Given the description of an element on the screen output the (x, y) to click on. 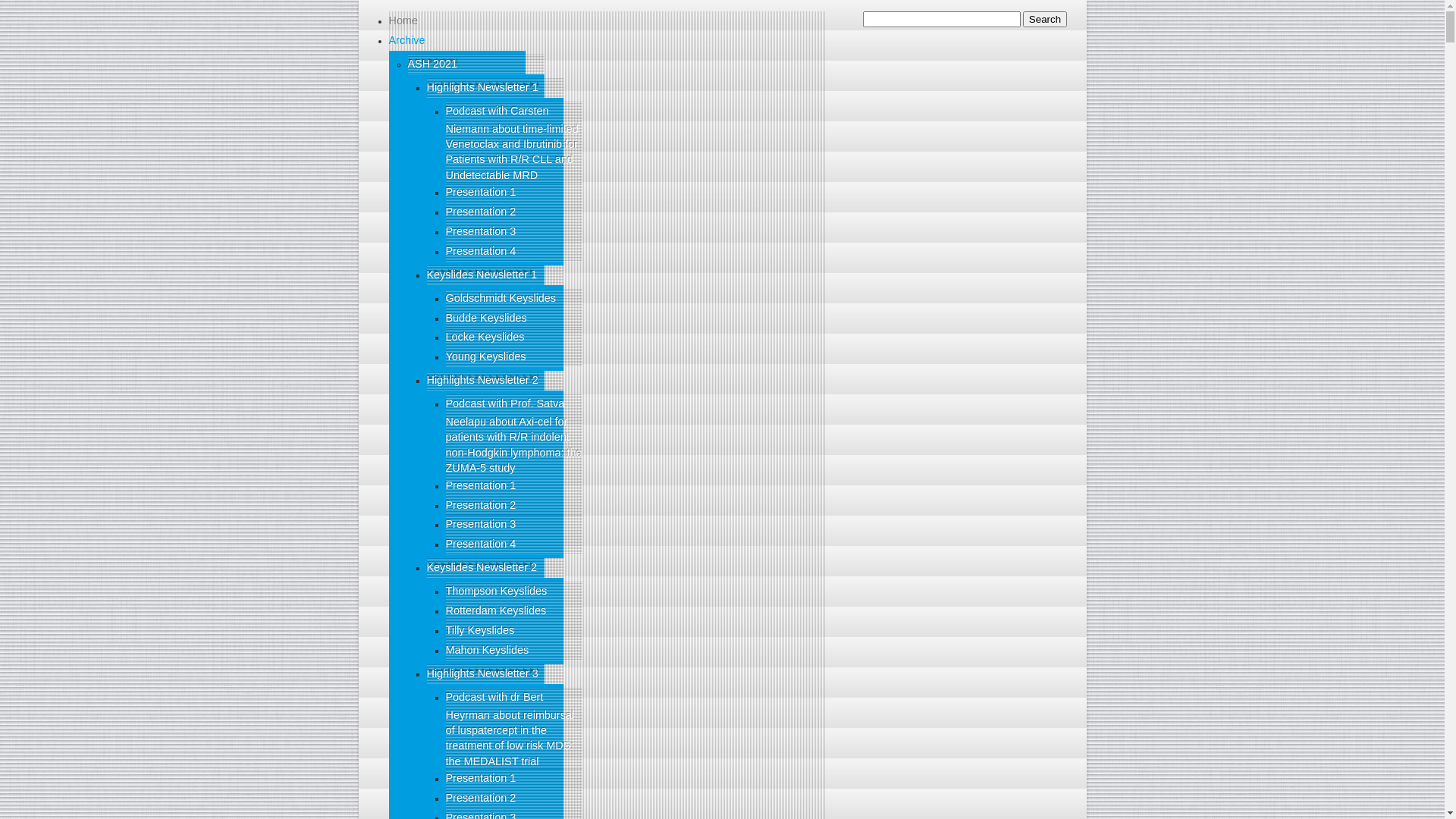
Young Keyslides Element type: text (485, 356)
Home Element type: text (402, 20)
Presentation 1 Element type: text (480, 485)
Search Element type: text (1044, 19)
Tilly Keyslides Element type: text (479, 630)
Presentation 3 Element type: text (480, 231)
Presentation 4 Element type: text (480, 543)
Presentation 1 Element type: text (480, 191)
Presentation 2 Element type: text (480, 797)
Mahon Keyslides Element type: text (487, 649)
Rotterdam Keyslides Element type: text (495, 610)
Thompson Keyslides Element type: text (496, 590)
Archive Element type: text (406, 40)
Presentation 2 Element type: text (480, 504)
Keyslides Newsletter 2 Element type: text (481, 567)
Highlights Newsletter 1 Element type: text (481, 87)
Presentation 3 Element type: text (480, 523)
Presentation 4 Element type: text (480, 250)
Locke Keyslides Element type: text (484, 336)
Highlights Newsletter 2 Element type: text (481, 379)
Presentation 2 Element type: text (480, 211)
Budde Keyslides Element type: text (486, 317)
Goldschmidt Keyslides Element type: text (500, 297)
Presentation 1 Element type: text (480, 777)
Highlights Newsletter 3 Element type: text (481, 673)
ASH 2021 Element type: text (432, 63)
Keyslides Newsletter 1 Element type: text (481, 274)
